Given the description of an element on the screen output the (x, y) to click on. 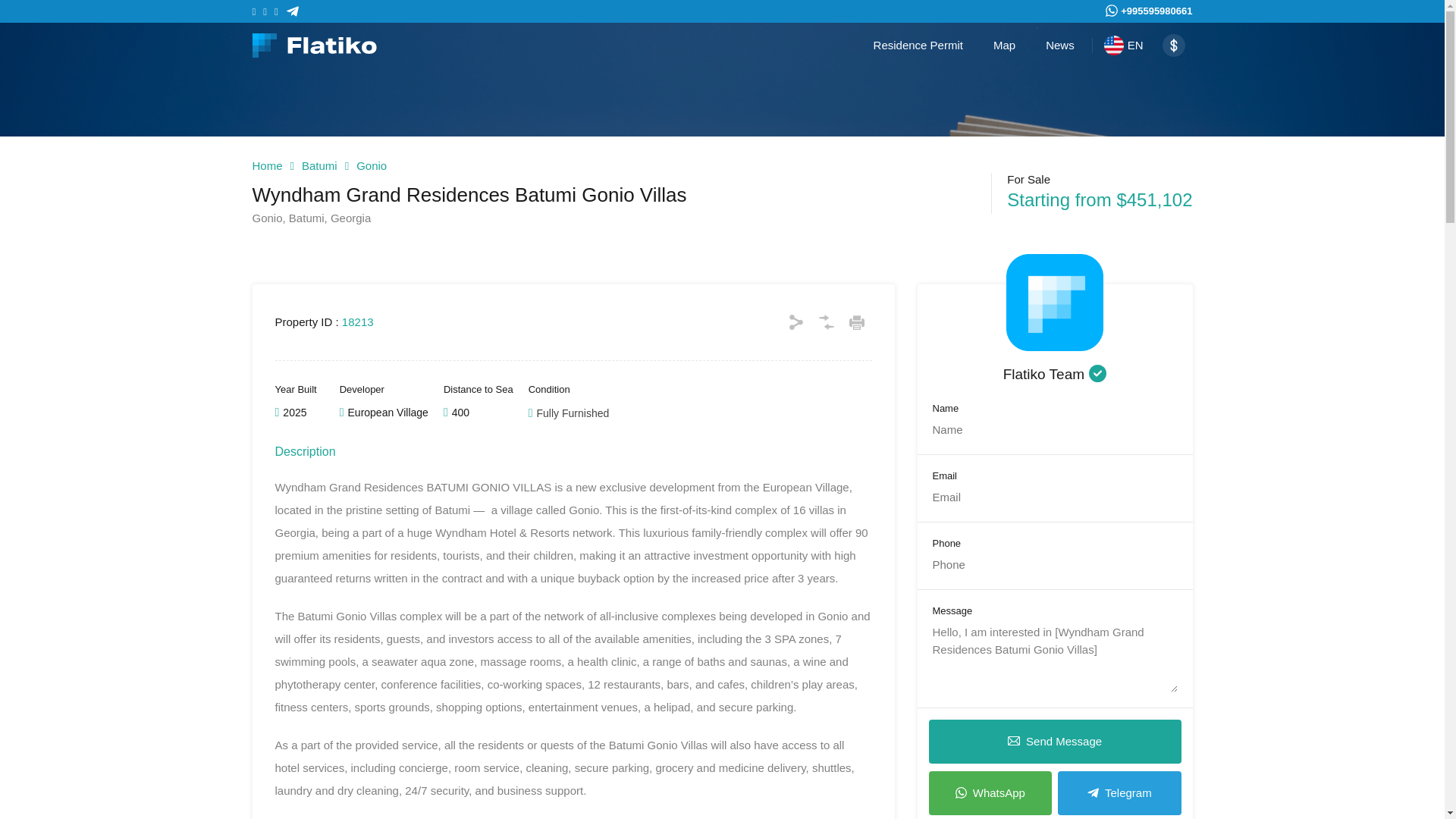
Residence Permit (917, 45)
News (1059, 45)
English (1113, 45)
Map (1003, 45)
EN (1123, 45)
